Given the description of an element on the screen output the (x, y) to click on. 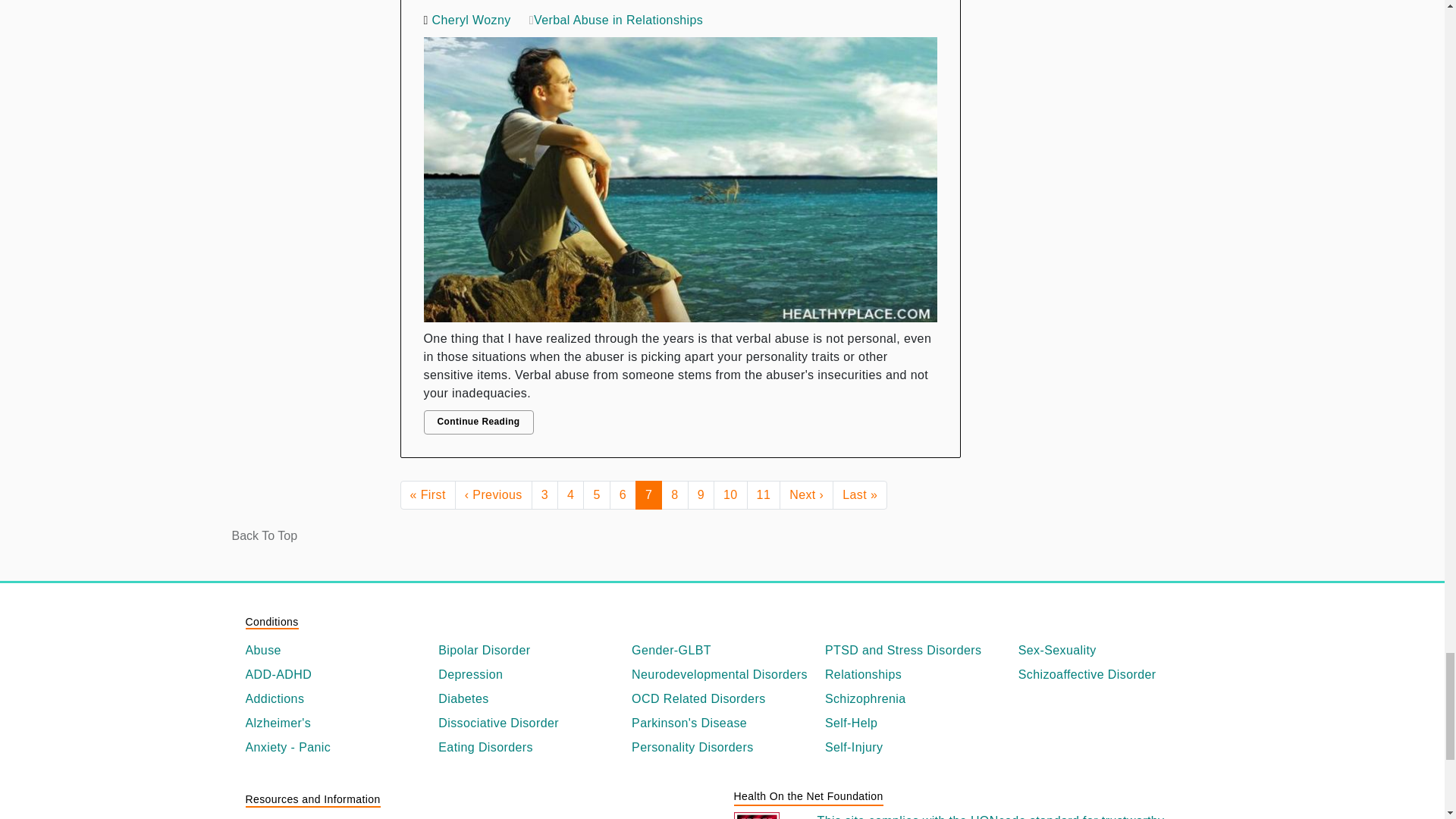
Go to page 8 (674, 494)
Go to first page (427, 494)
Go to page 5 (596, 494)
Go to previous page (493, 494)
Go to page 4 (570, 494)
Current page (648, 494)
Go to page 6 (623, 494)
Go to page 9 (700, 494)
Go to page 3 (544, 494)
